Given the description of an element on the screen output the (x, y) to click on. 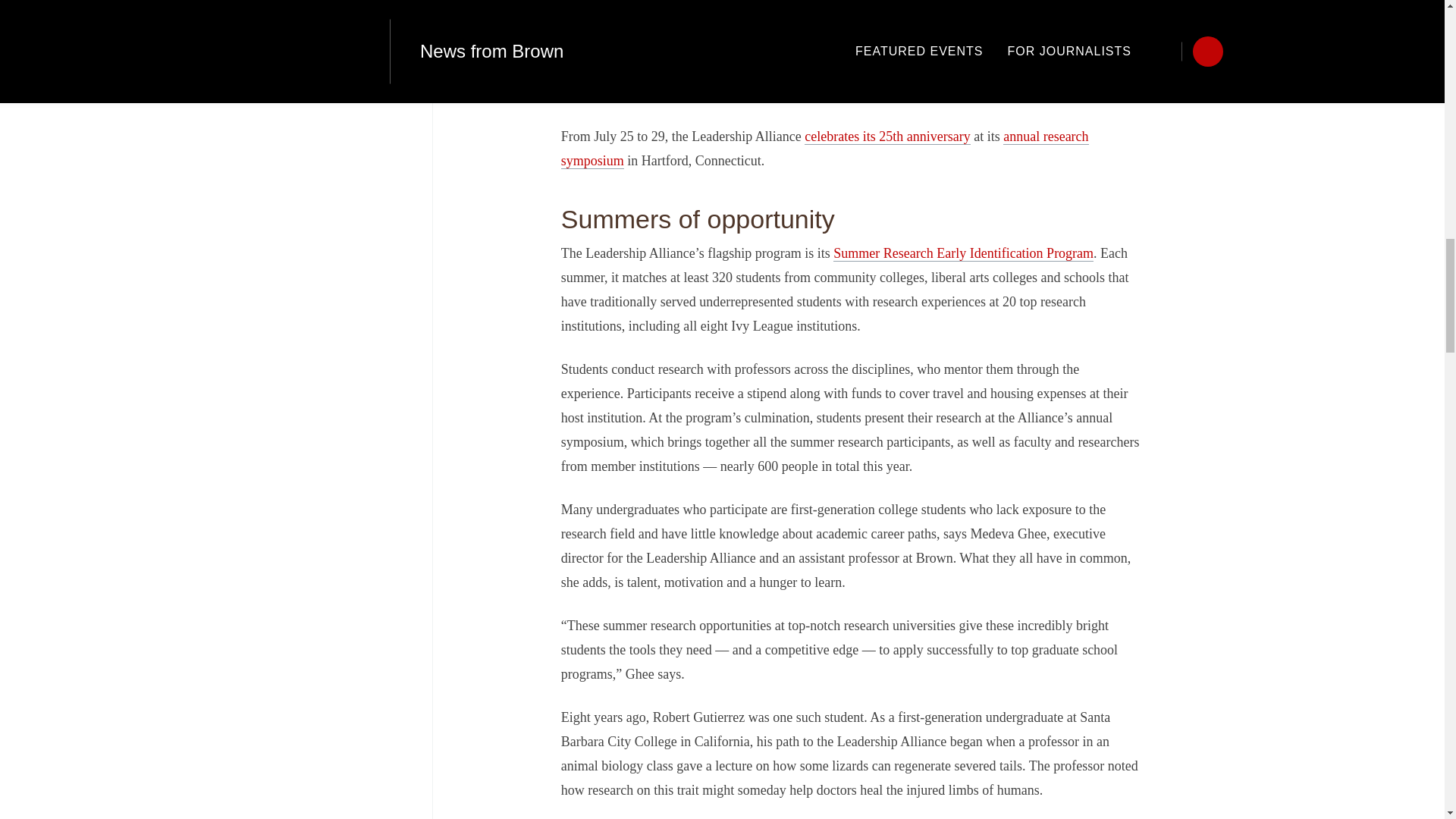
celebrates its 25th anniversary (887, 136)
annual research symposium (824, 148)
Summer Research Early Identification Program (962, 253)
